Given the description of an element on the screen output the (x, y) to click on. 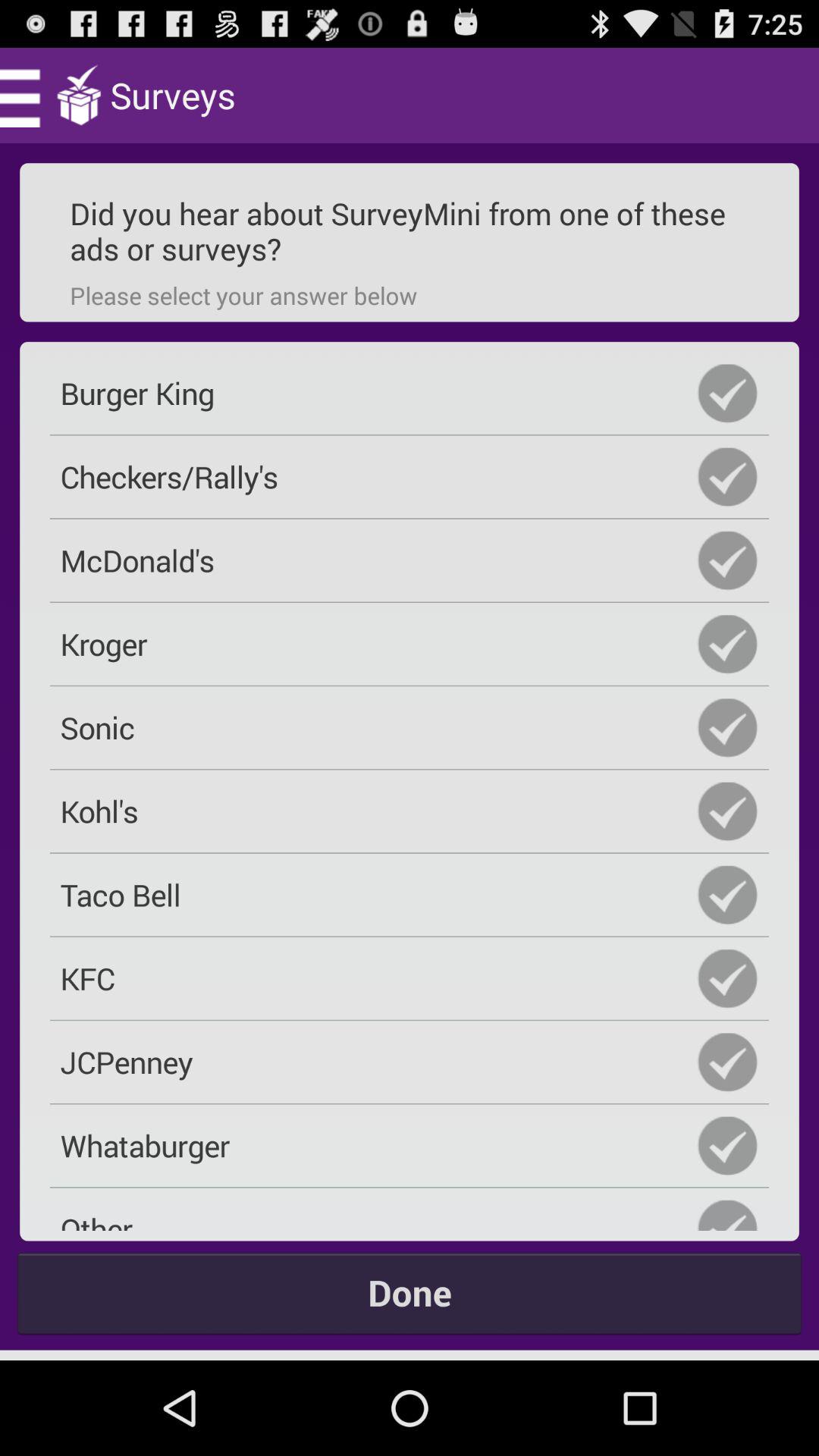
open item above jcpenney icon (409, 978)
